Given the description of an element on the screen output the (x, y) to click on. 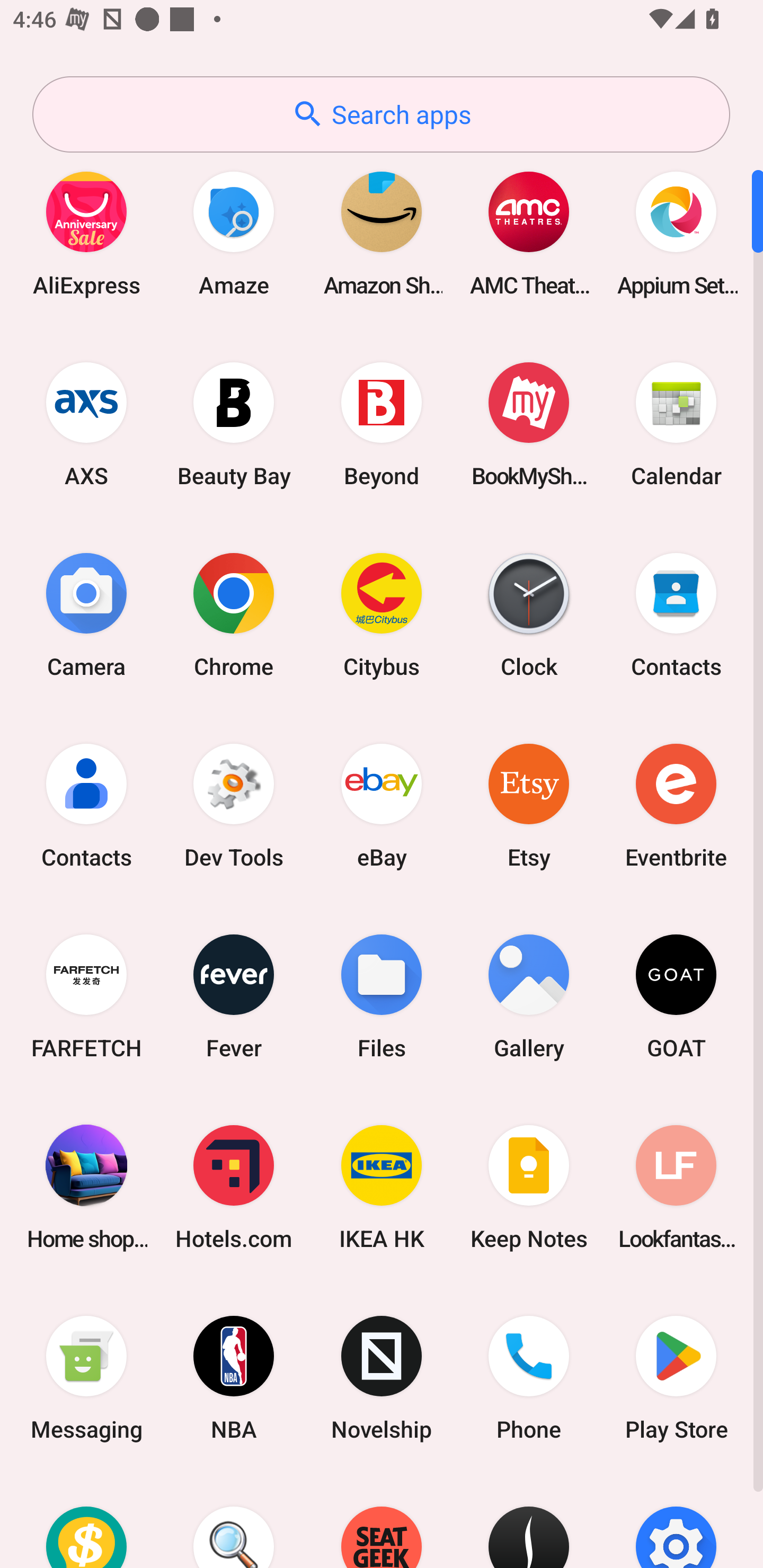
  Search apps (381, 114)
AliExpress (86, 233)
Amaze (233, 233)
Amazon Shopping (381, 233)
AMC Theatres (528, 233)
Appium Settings (676, 233)
AXS (86, 424)
Beauty Bay (233, 424)
Beyond (381, 424)
BookMyShow (528, 424)
Calendar (676, 424)
Camera (86, 614)
Chrome (233, 614)
Citybus (381, 614)
Clock (528, 614)
Contacts (676, 614)
Contacts (86, 805)
Dev Tools (233, 805)
eBay (381, 805)
Etsy (528, 805)
Eventbrite (676, 805)
FARFETCH (86, 996)
Fever (233, 996)
Files (381, 996)
Gallery (528, 996)
GOAT (676, 996)
Home shopping (86, 1186)
Hotels.com (233, 1186)
IKEA HK (381, 1186)
Keep Notes (528, 1186)
Lookfantastic (676, 1186)
Messaging (86, 1377)
NBA (233, 1377)
Novelship (381, 1377)
Phone (528, 1377)
Play Store (676, 1377)
Price (86, 1520)
Search (233, 1520)
SeatGeek (381, 1520)
Sephora (528, 1520)
Settings (676, 1520)
